Given the description of an element on the screen output the (x, y) to click on. 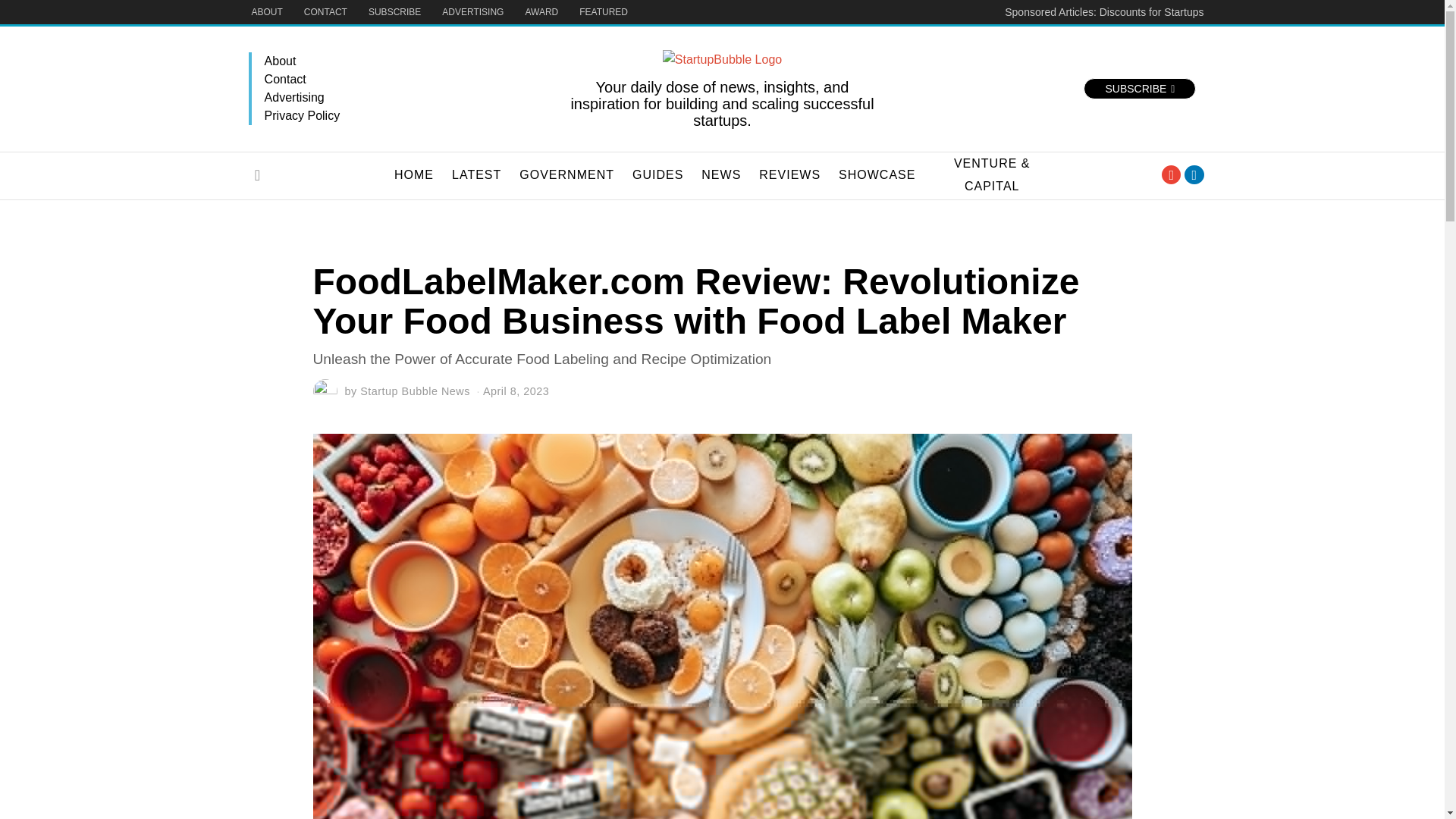
REVIEWS (789, 174)
SUBSCRIBE (394, 12)
FEATURED (604, 12)
SUBSCRIBE (1139, 88)
AWARD (541, 12)
StartupBubble Logo (721, 59)
Go (258, 174)
SHOWCASE (876, 174)
CONTACT (326, 12)
Privacy Policy (407, 116)
About (407, 61)
LATEST (476, 174)
GUIDES (658, 174)
GOVERNMENT (567, 174)
Startup Bubble News (414, 390)
